Given the description of an element on the screen output the (x, y) to click on. 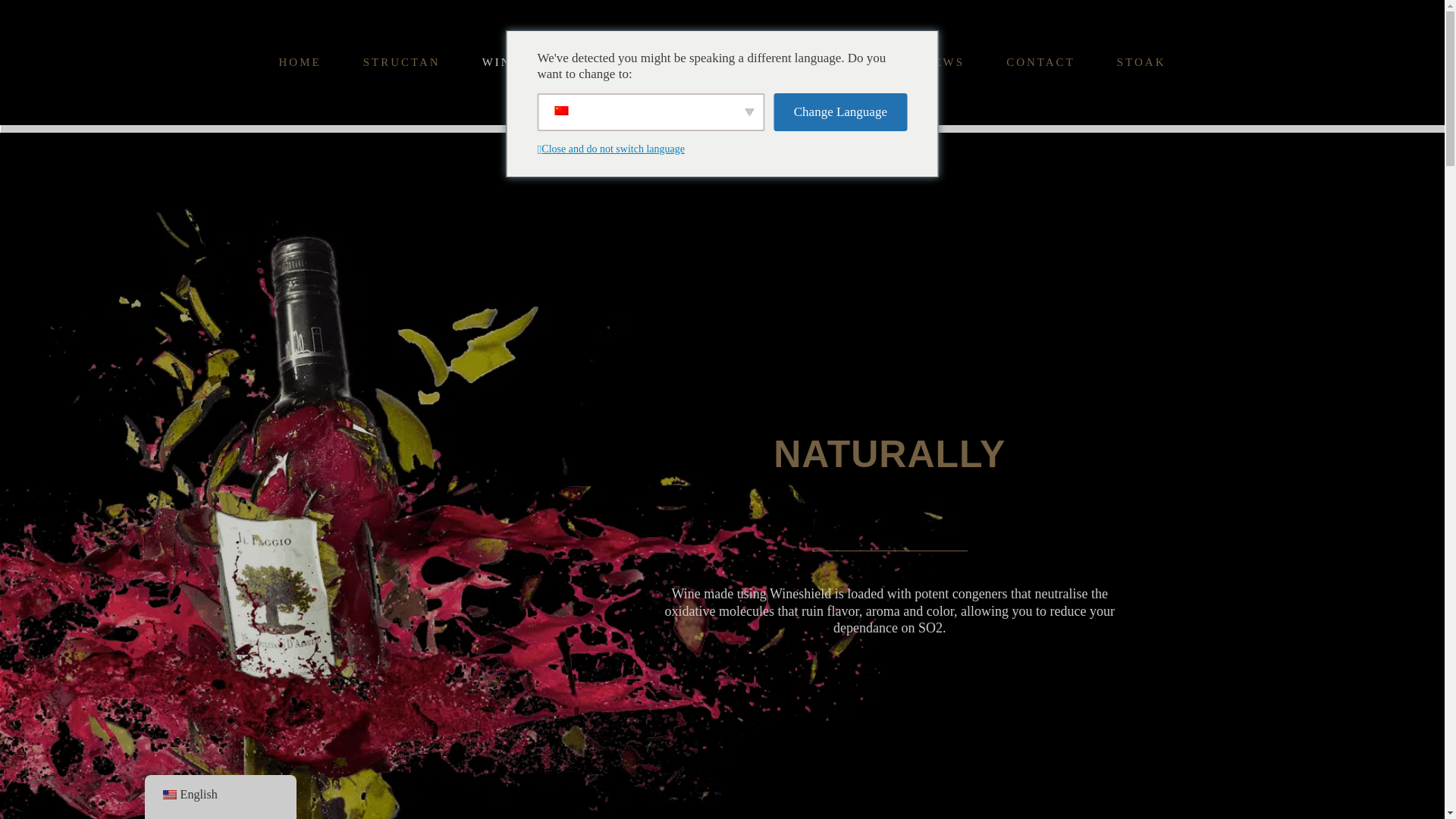
English (168, 794)
English (219, 794)
WINESHIELD (528, 62)
